Given the description of an element on the screen output the (x, y) to click on. 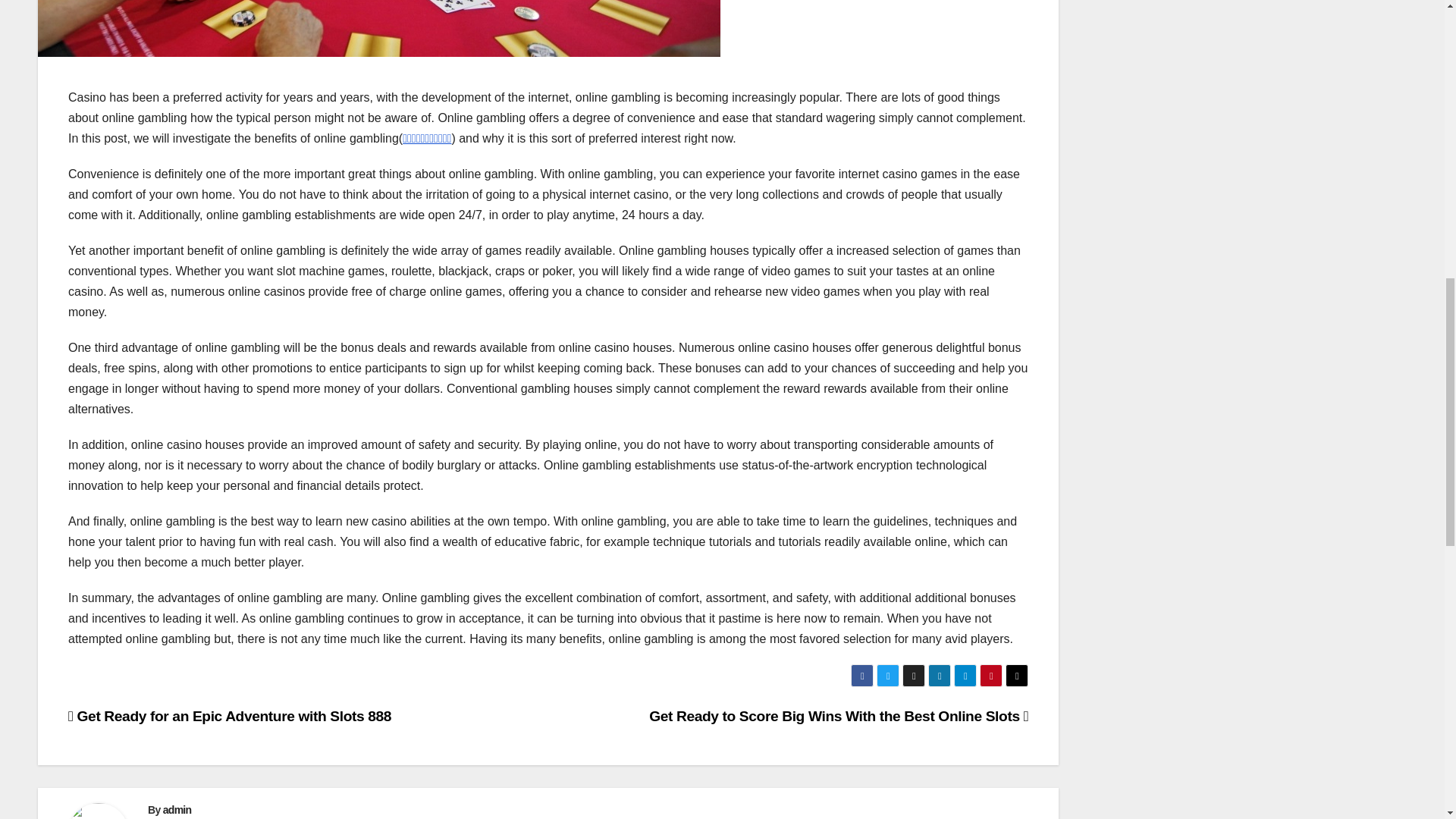
admin (177, 809)
Get Ready to Score Big Wins With the Best Online Slots (838, 715)
Get Ready for an Epic Adventure with Slots 888 (229, 715)
